Given the description of an element on the screen output the (x, y) to click on. 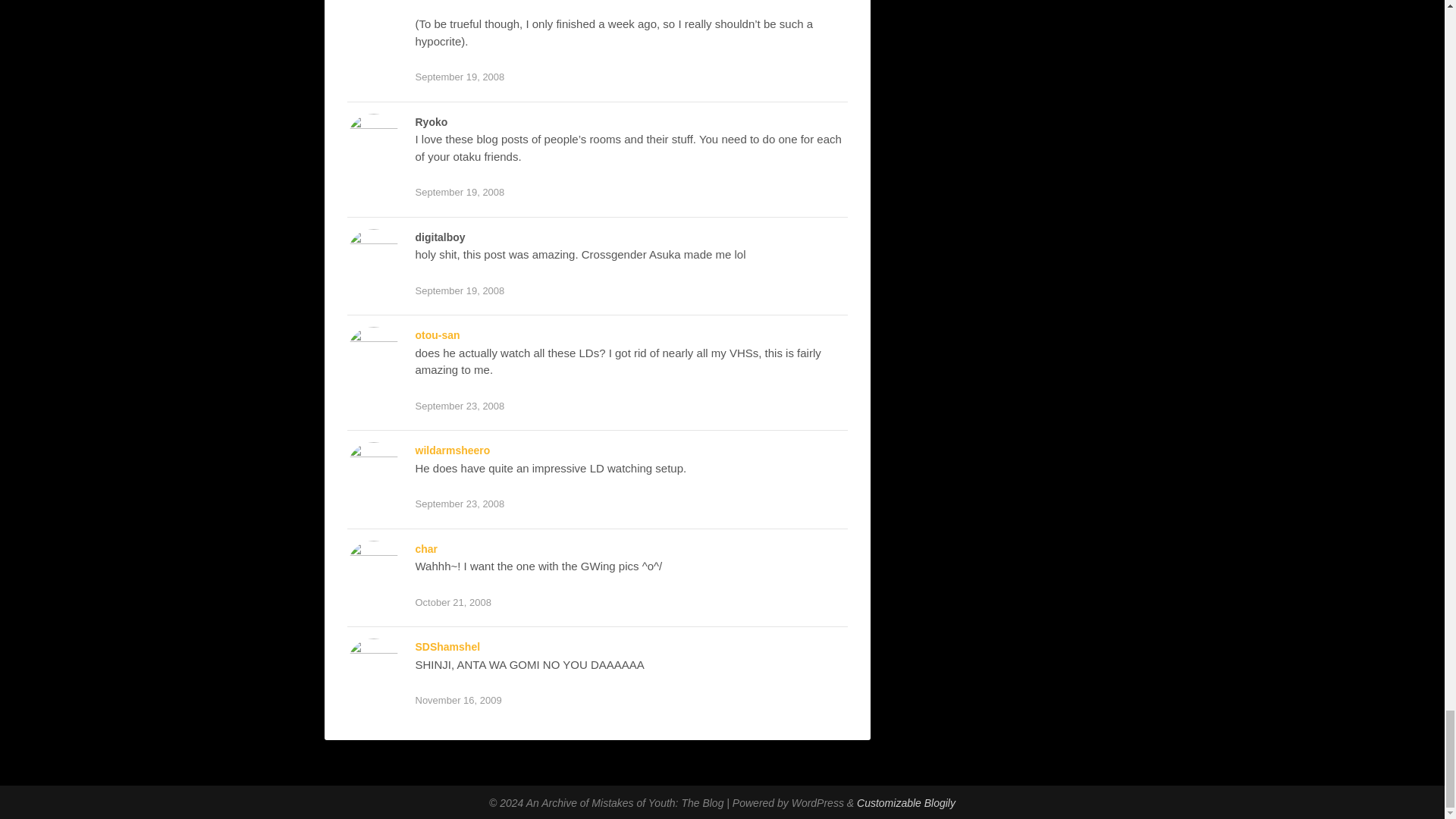
SDShamshel (447, 646)
otou-san (437, 335)
wildarmsheero (452, 450)
char (426, 548)
